Given the description of an element on the screen output the (x, y) to click on. 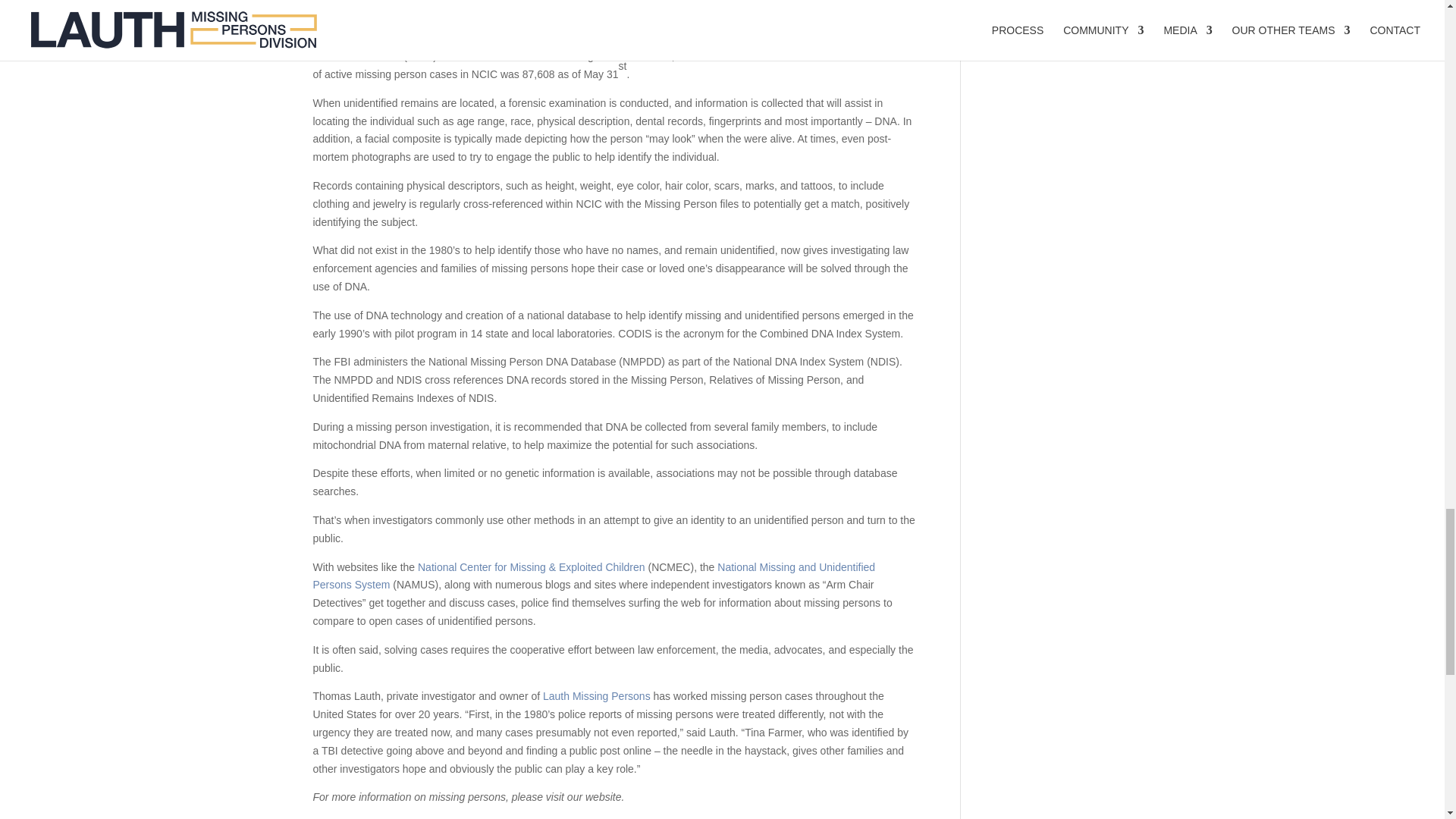
National Missing and Unidentified Persons System (594, 576)
Lauth Missing Persons (596, 695)
